Given the description of an element on the screen output the (x, y) to click on. 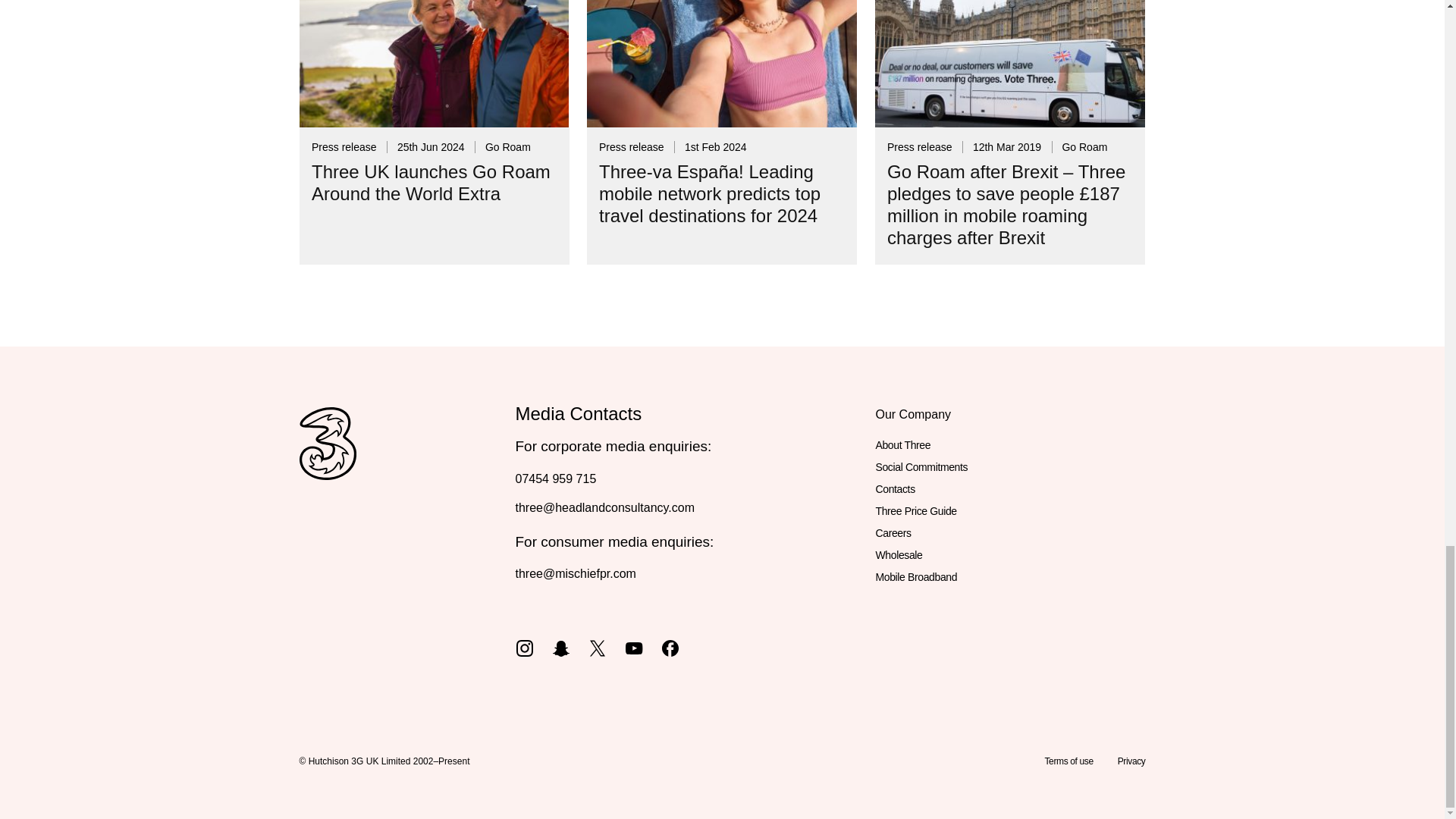
Three Price Guide (915, 511)
Privacy (1131, 760)
View our Facebook feed. (670, 646)
Social Commitments (921, 466)
Visit our Instagram page. (524, 646)
Follow us on Snapchat for the latest from Three Mobile... (560, 646)
Home (326, 460)
About Three (902, 445)
Wholesale (898, 555)
Watch our YouTube channel. (633, 646)
Terms of use (1068, 760)
Mobile Broadband (915, 577)
07454 959 715 (555, 478)
Careers (893, 533)
